Given the description of an element on the screen output the (x, y) to click on. 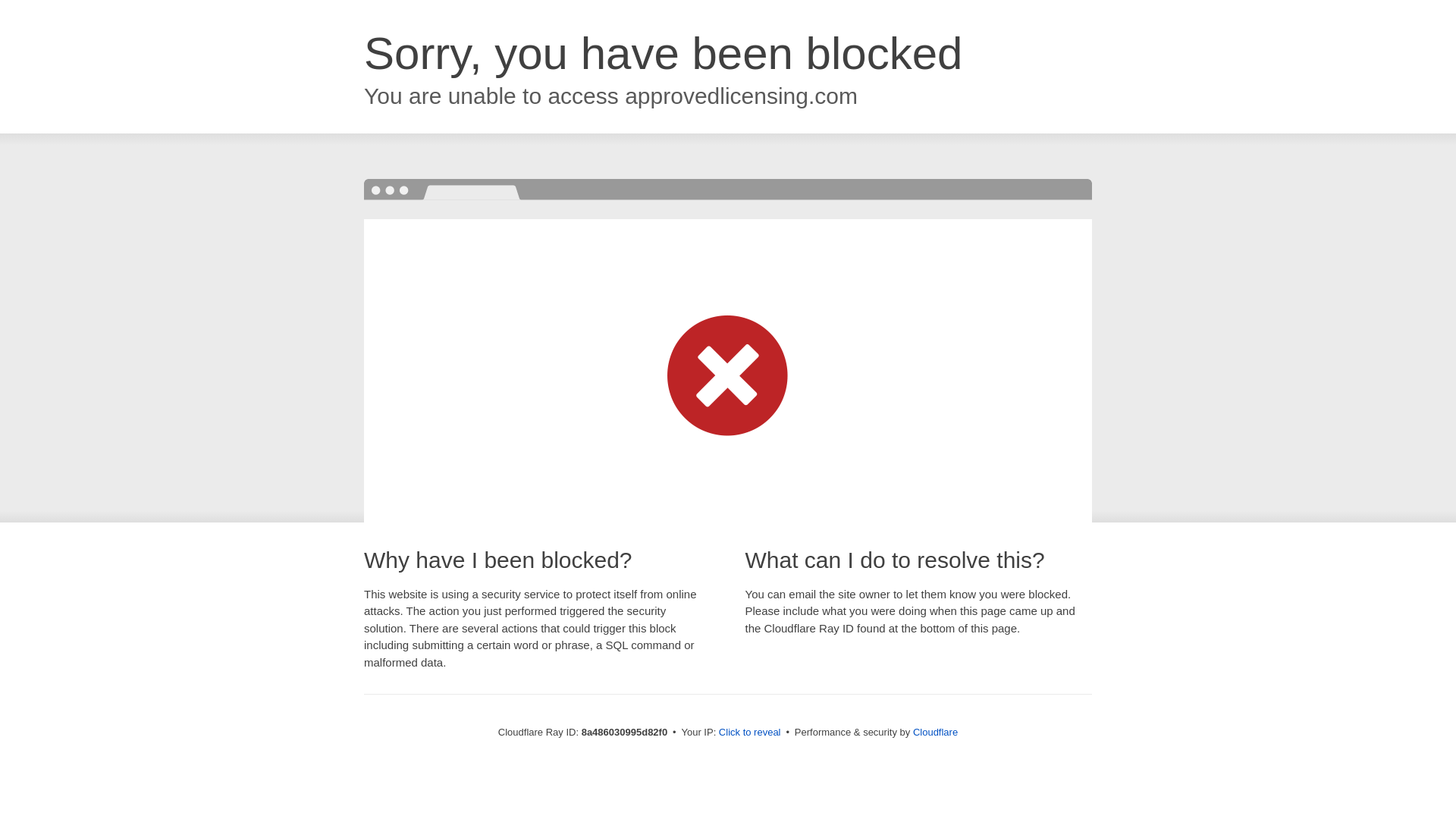
Click to reveal (749, 732)
Cloudflare (935, 731)
